Given the description of an element on the screen output the (x, y) to click on. 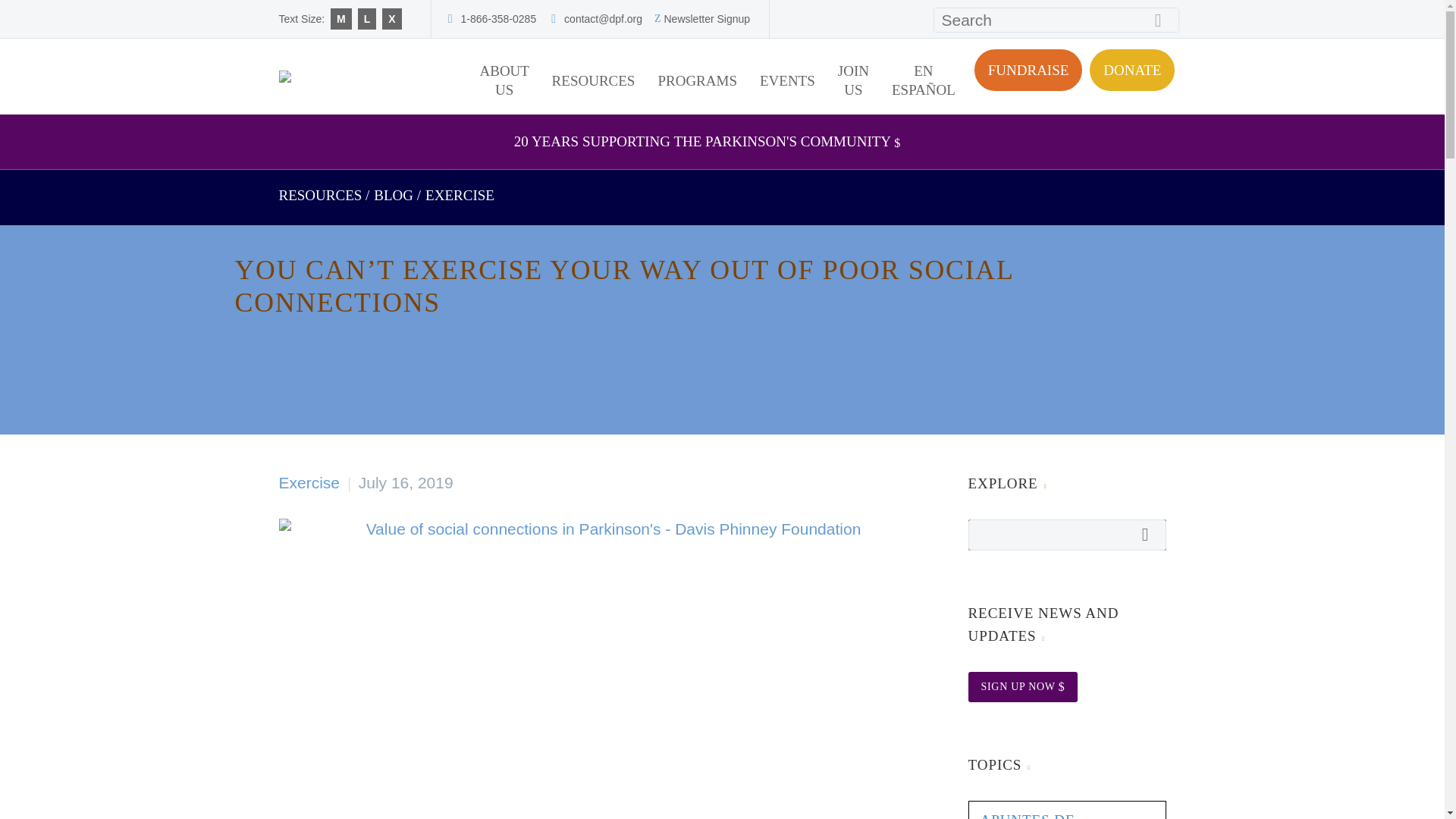
View all posts in Exercise (309, 482)
View all posts filed under Apuntes de Parkinson (1026, 815)
SEARCH (1163, 19)
Exercise (460, 195)
L (367, 18)
ABOUT US (504, 79)
Back to Resources (320, 195)
Newsletter Signup (706, 19)
Back to Blog (393, 195)
1-866-358-0285 (499, 19)
